Given the description of an element on the screen output the (x, y) to click on. 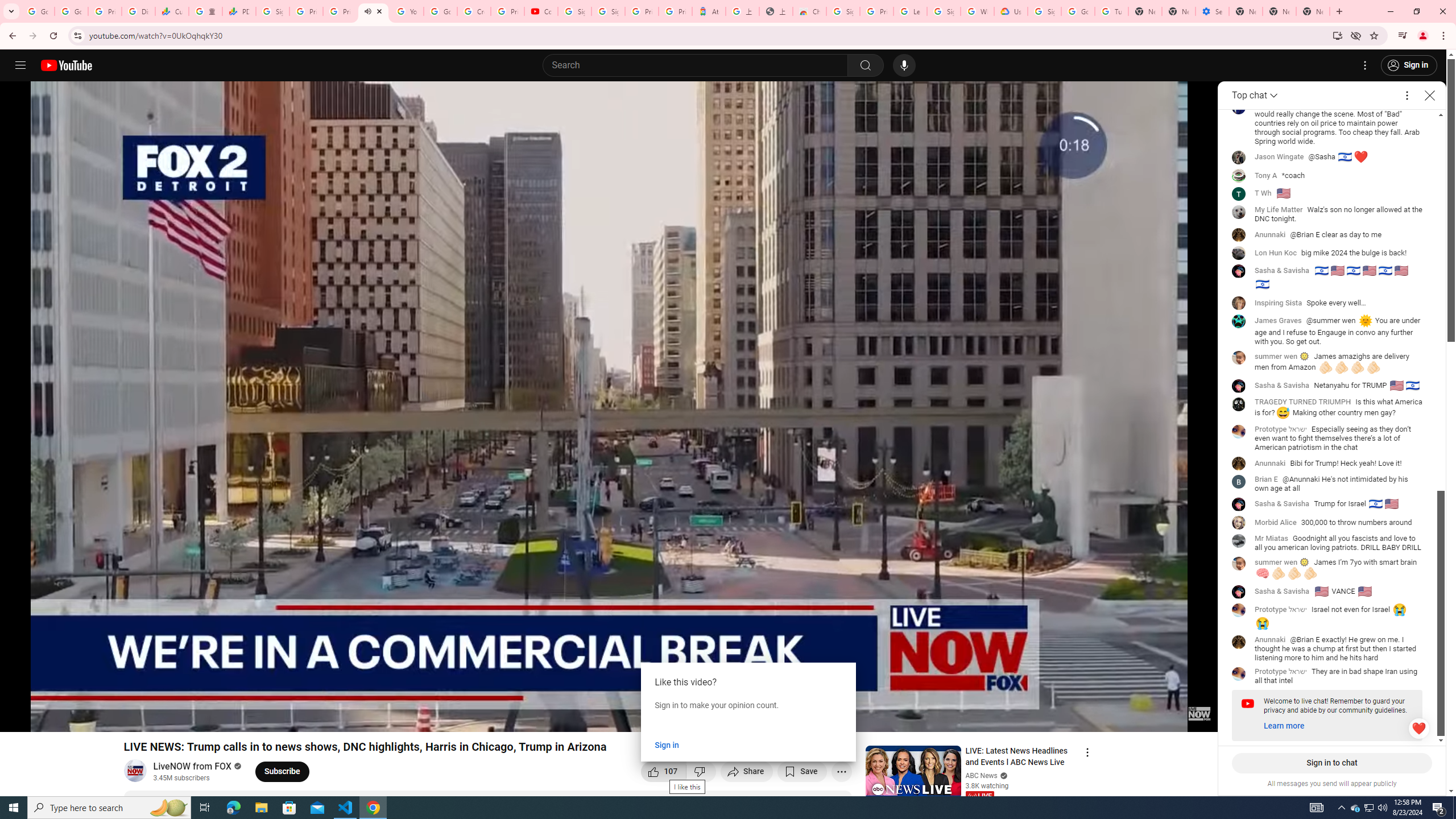
Learn more (1284, 725)
Atour Hotel - Google hotels (708, 11)
Subtitles/closed captions unavailable (1088, 718)
LIVE (979, 795)
More options (1407, 95)
